Given the description of an element on the screen output the (x, y) to click on. 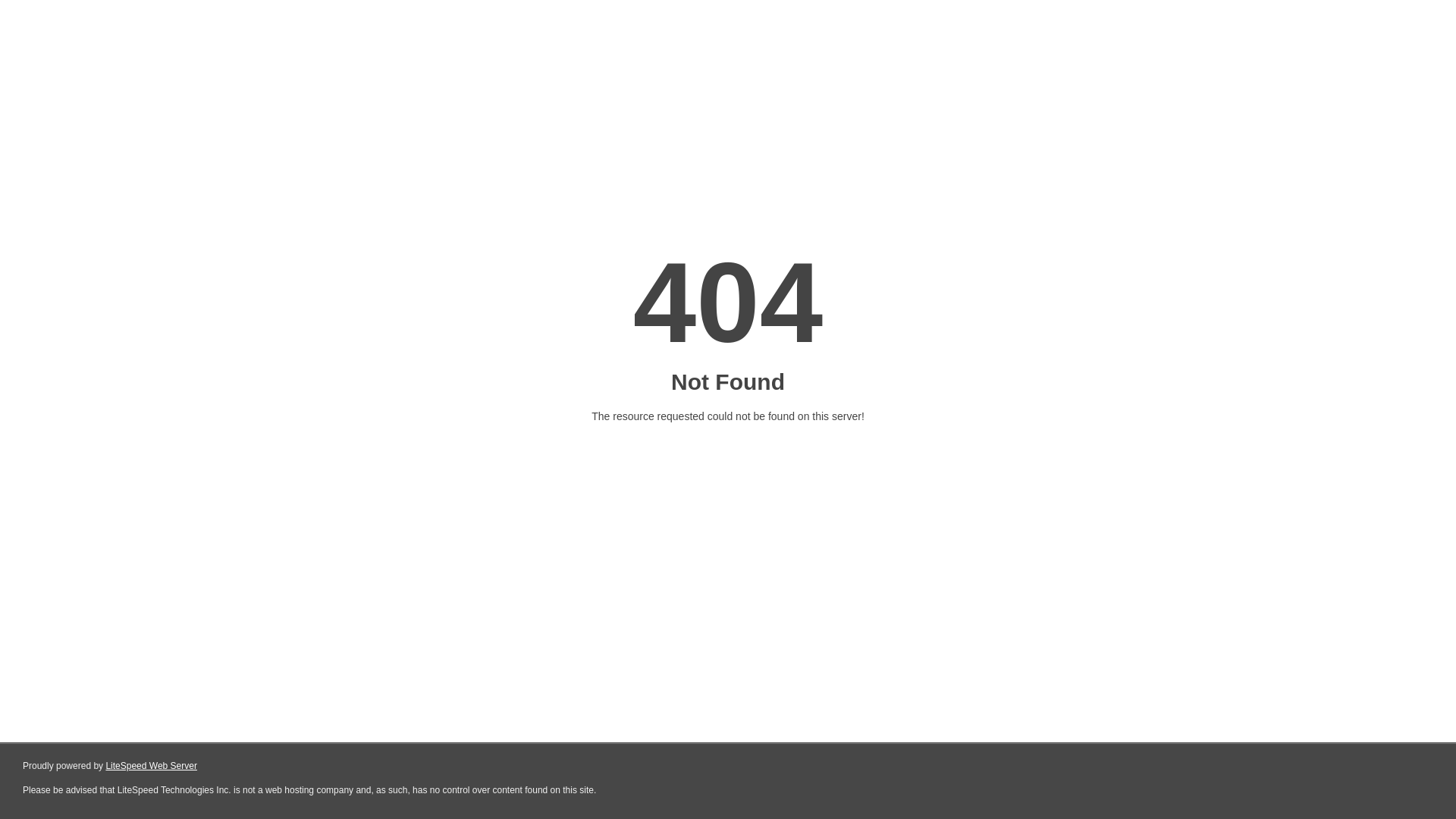
LiteSpeed Web Server Element type: text (151, 765)
